Given the description of an element on the screen output the (x, y) to click on. 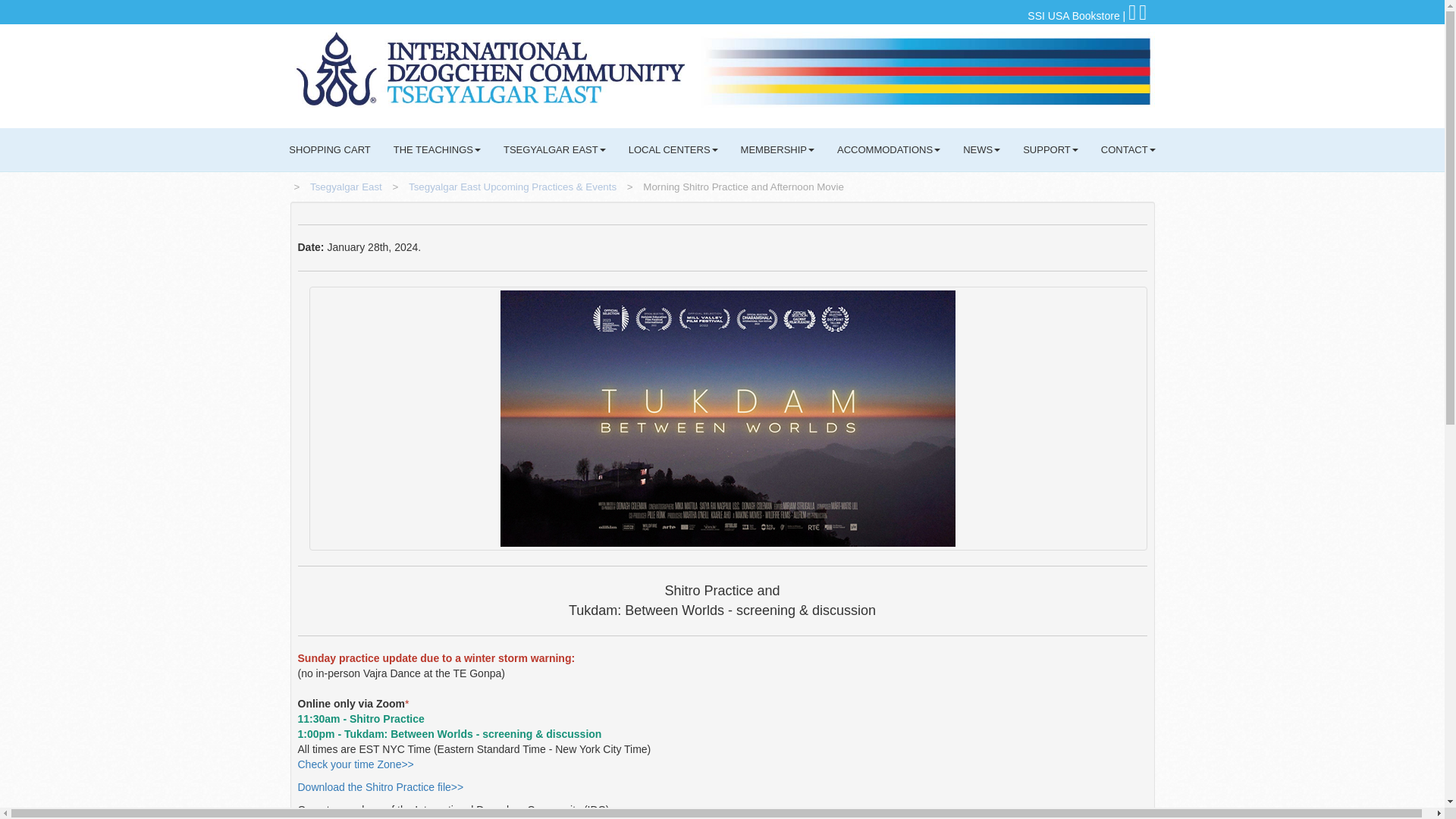
TSEGYALGAR EAST (554, 149)
SHOPPING CART (329, 149)
SSI USA Bookstore (1073, 15)
THE TEACHINGS (436, 149)
MEMBERSHIP (777, 149)
LOCAL CENTERS (673, 149)
